Given the description of an element on the screen output the (x, y) to click on. 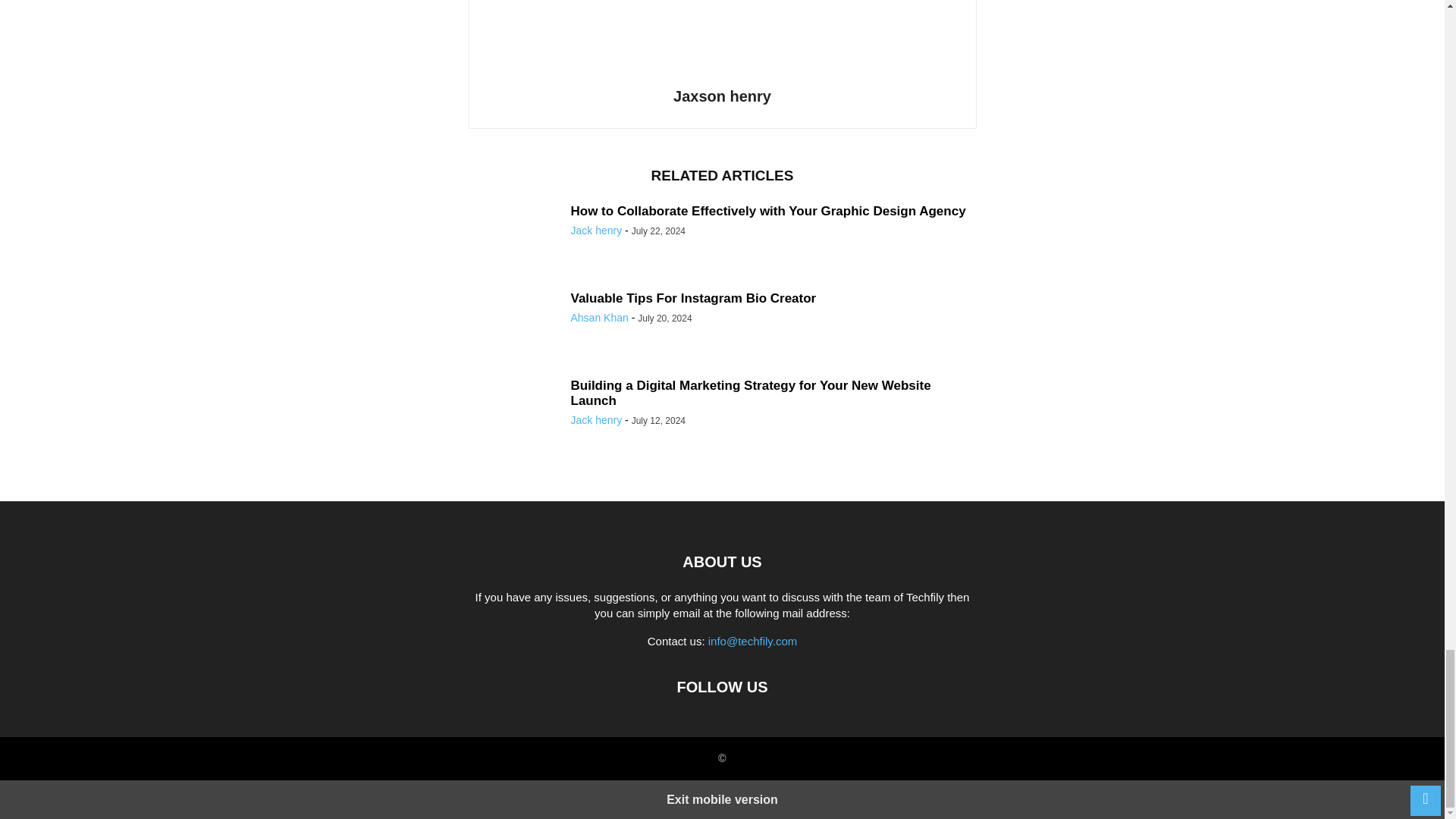
Ahsan Khan (598, 317)
Valuable Tips For Instagram Bio Creator (692, 298)
Jack henry (595, 230)
Jaxson henry (721, 95)
